Given the description of an element on the screen output the (x, y) to click on. 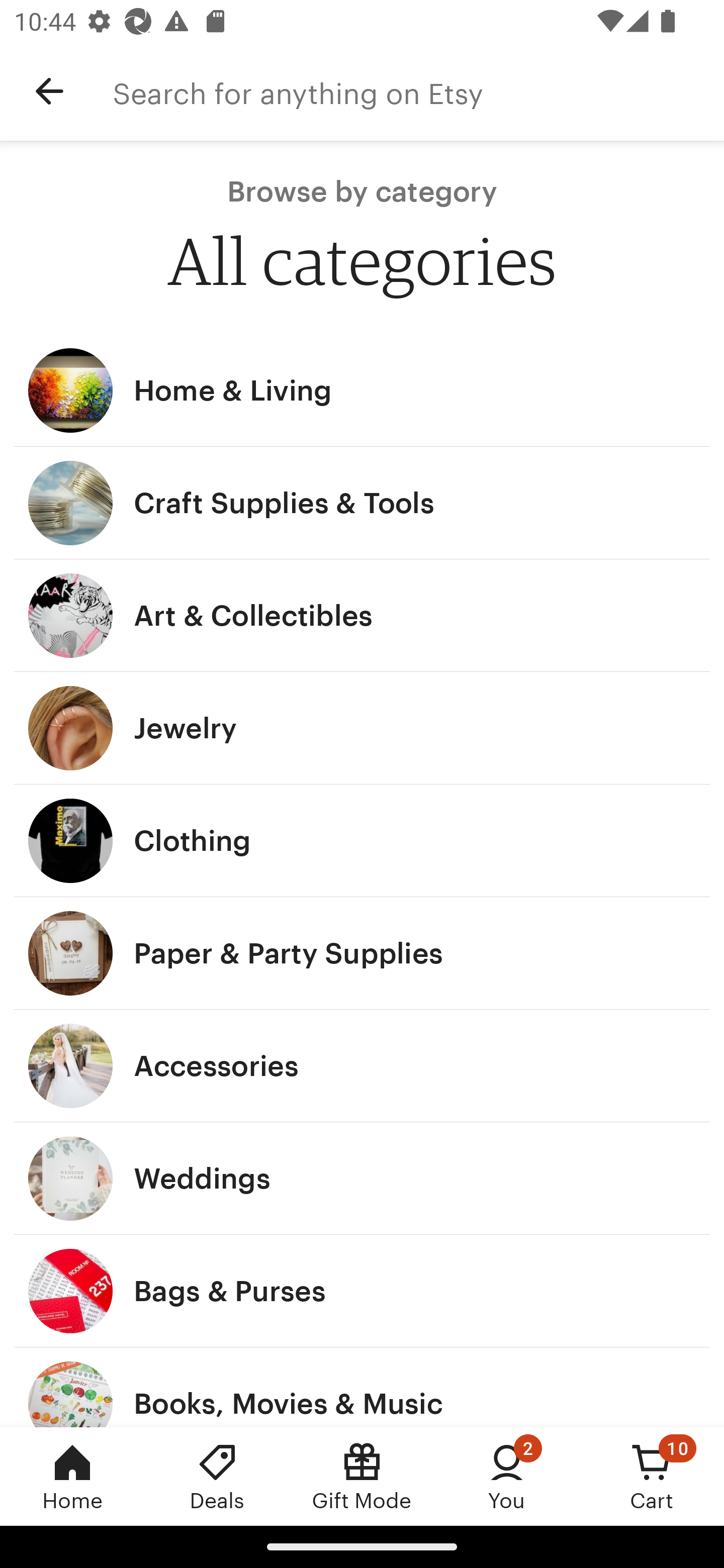
Navigate up (49, 91)
Search for anything on Etsy (418, 91)
Home & Living (361, 389)
Craft Supplies & Tools (361, 502)
Art & Collectibles (361, 615)
Jewelry (361, 728)
Clothing (361, 840)
Paper & Party Supplies (361, 952)
Accessories (361, 1065)
Weddings (361, 1178)
Bags & Purses (361, 1290)
Books, Movies & Music (361, 1386)
Deals (216, 1475)
Gift Mode (361, 1475)
You, 2 new notifications You (506, 1475)
Cart, 10 new notifications Cart (651, 1475)
